Given the description of an element on the screen output the (x, y) to click on. 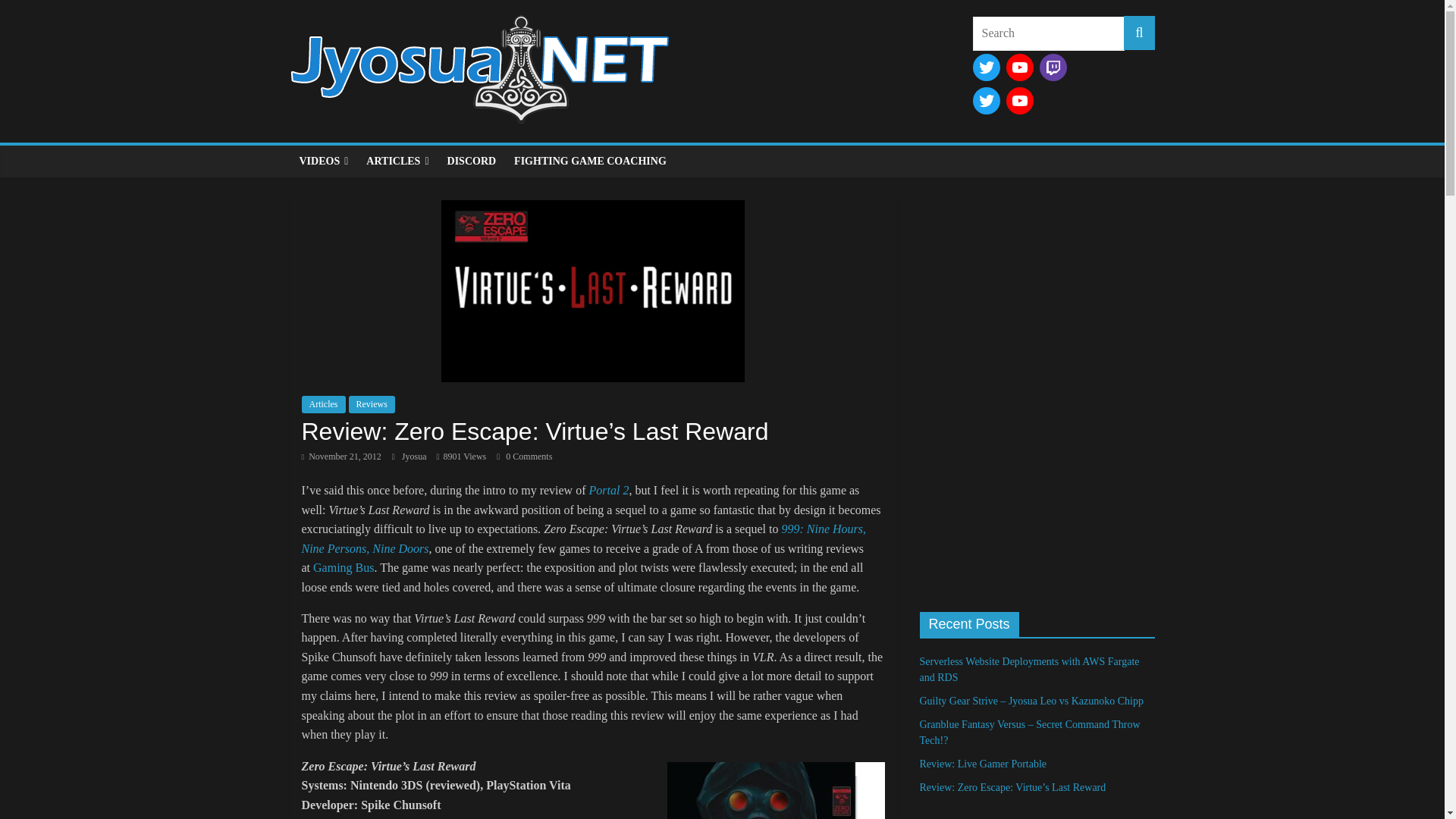
Jyosua (415, 456)
Review: Live Gamer Portable (982, 763)
999: Nine Hours, Nine Persons, Nine Doors (583, 538)
Portal 2 (608, 490)
Serverless Website Deployments with AWS Fargate and RDS (1028, 669)
VIDEOS (322, 161)
Reviews (371, 403)
ARTICLES (397, 161)
11:43 am (341, 456)
DISCORD (471, 161)
